Given the description of an element on the screen output the (x, y) to click on. 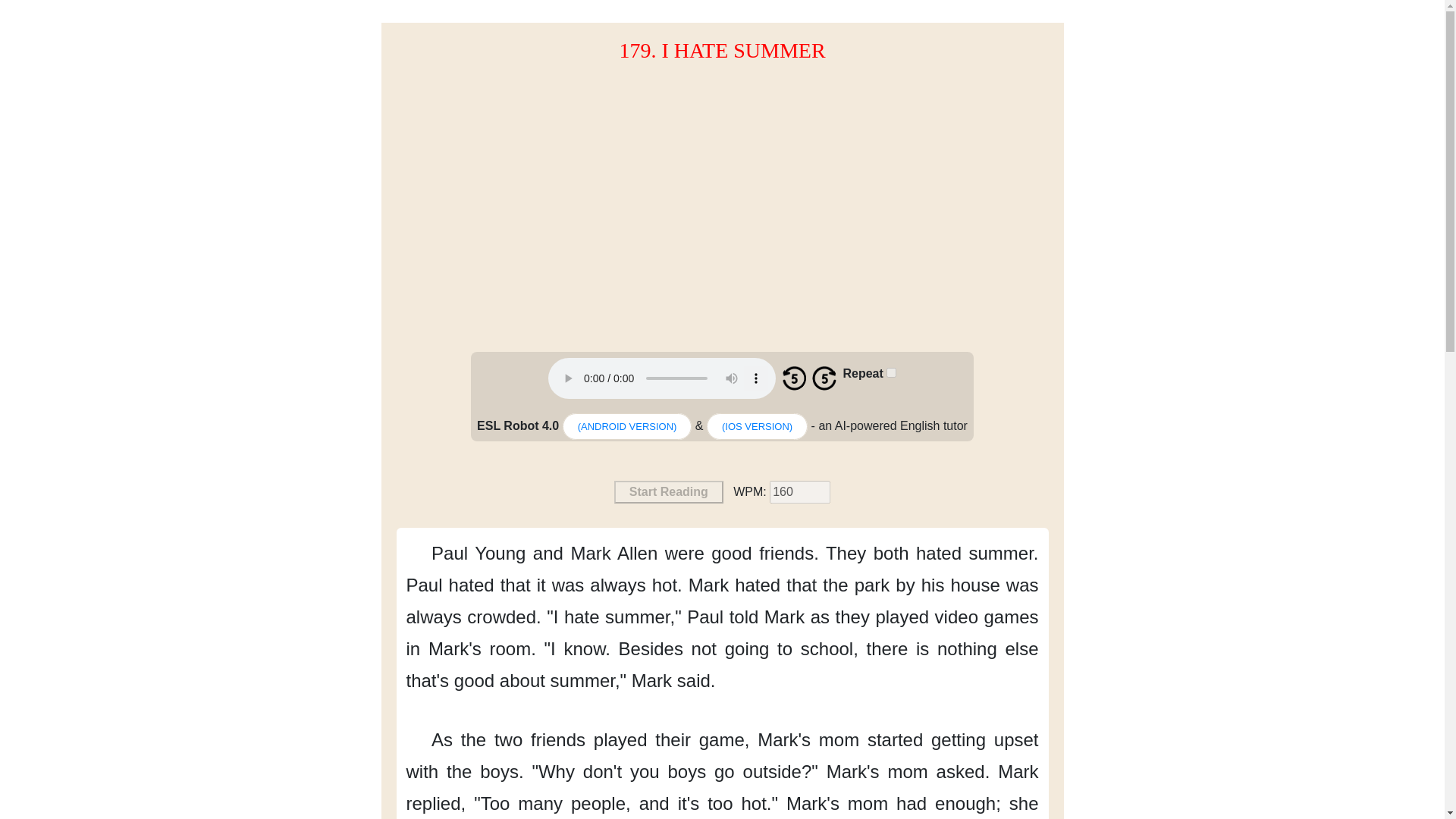
Start Reading (668, 491)
Advertisement (721, 214)
160 (799, 491)
on (891, 372)
